Given the description of an element on the screen output the (x, y) to click on. 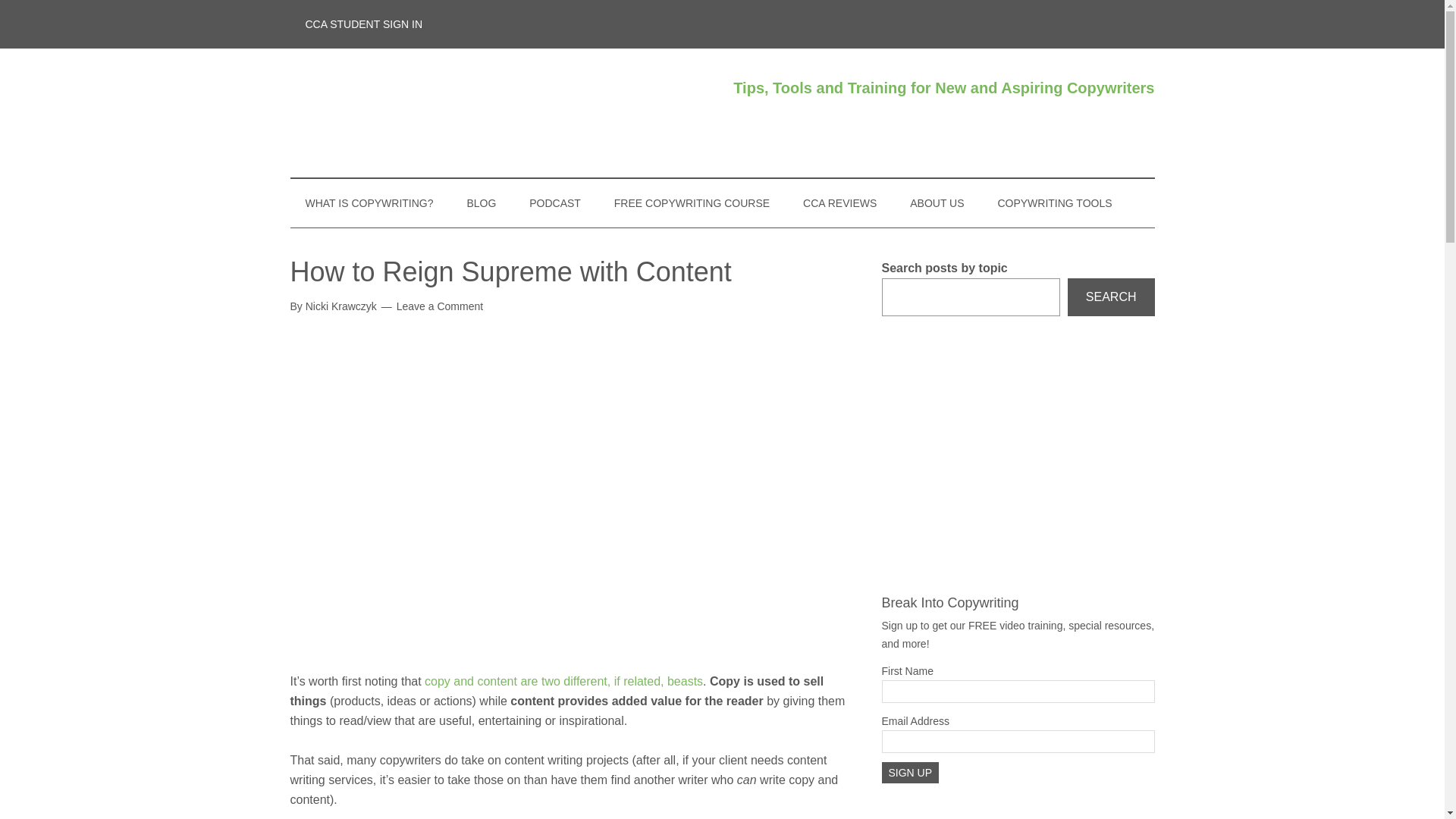
FREE COPYWRITING COURSE (691, 203)
Sign Up (909, 772)
Nicki Krawczyk (341, 306)
CCA REVIEWS (839, 203)
COPYWRITING TOOLS (1053, 203)
copy and content are two different, if related, beasts (564, 680)
Filthy Rich Writer (433, 112)
BLOG (481, 203)
Sign Up (909, 772)
CCA STUDENT SIGN IN (363, 24)
